Given the description of an element on the screen output the (x, y) to click on. 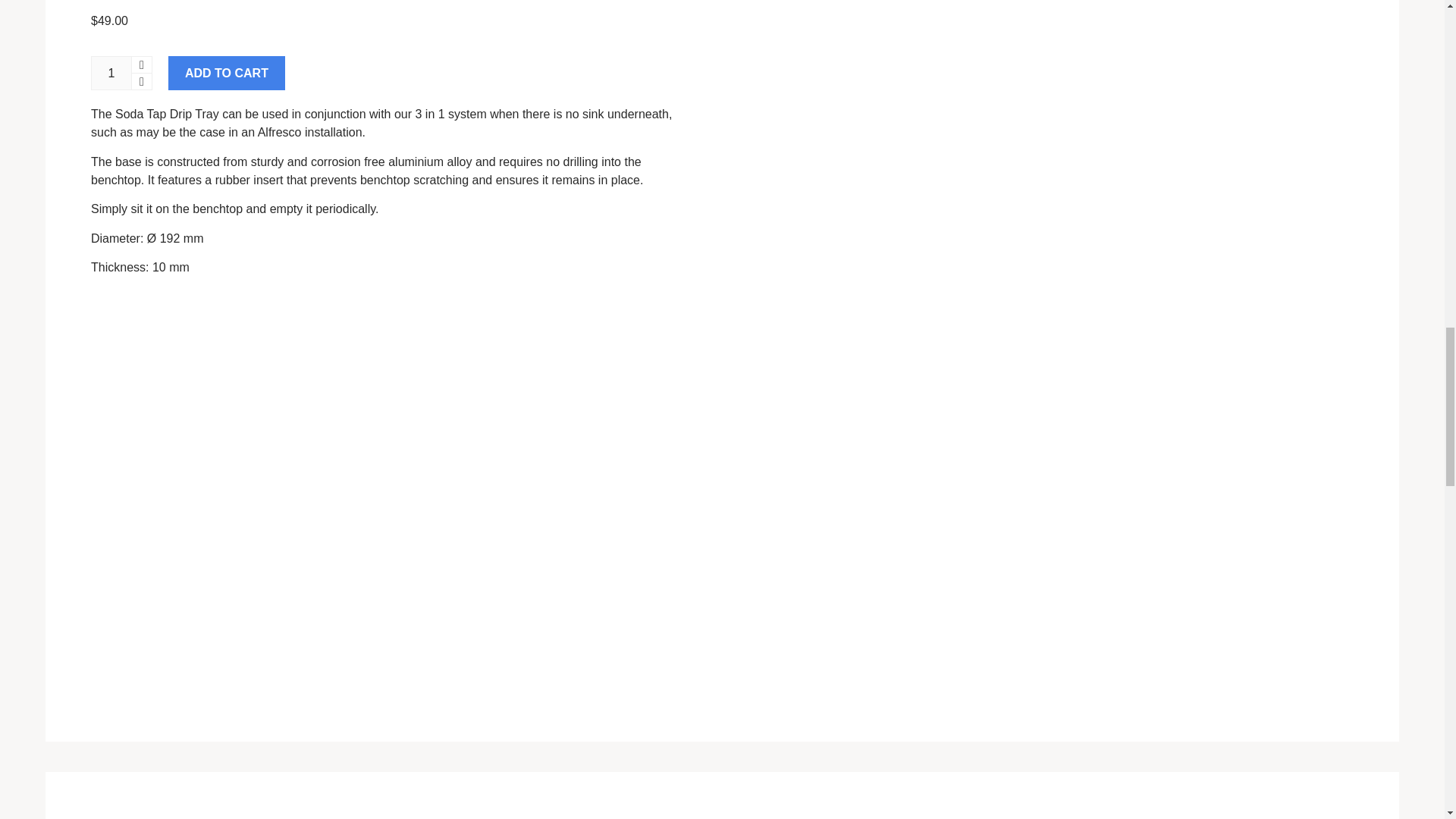
Dummy Filters (169, 817)
1 (111, 73)
ADD TO CART (226, 73)
